Given the description of an element on the screen output the (x, y) to click on. 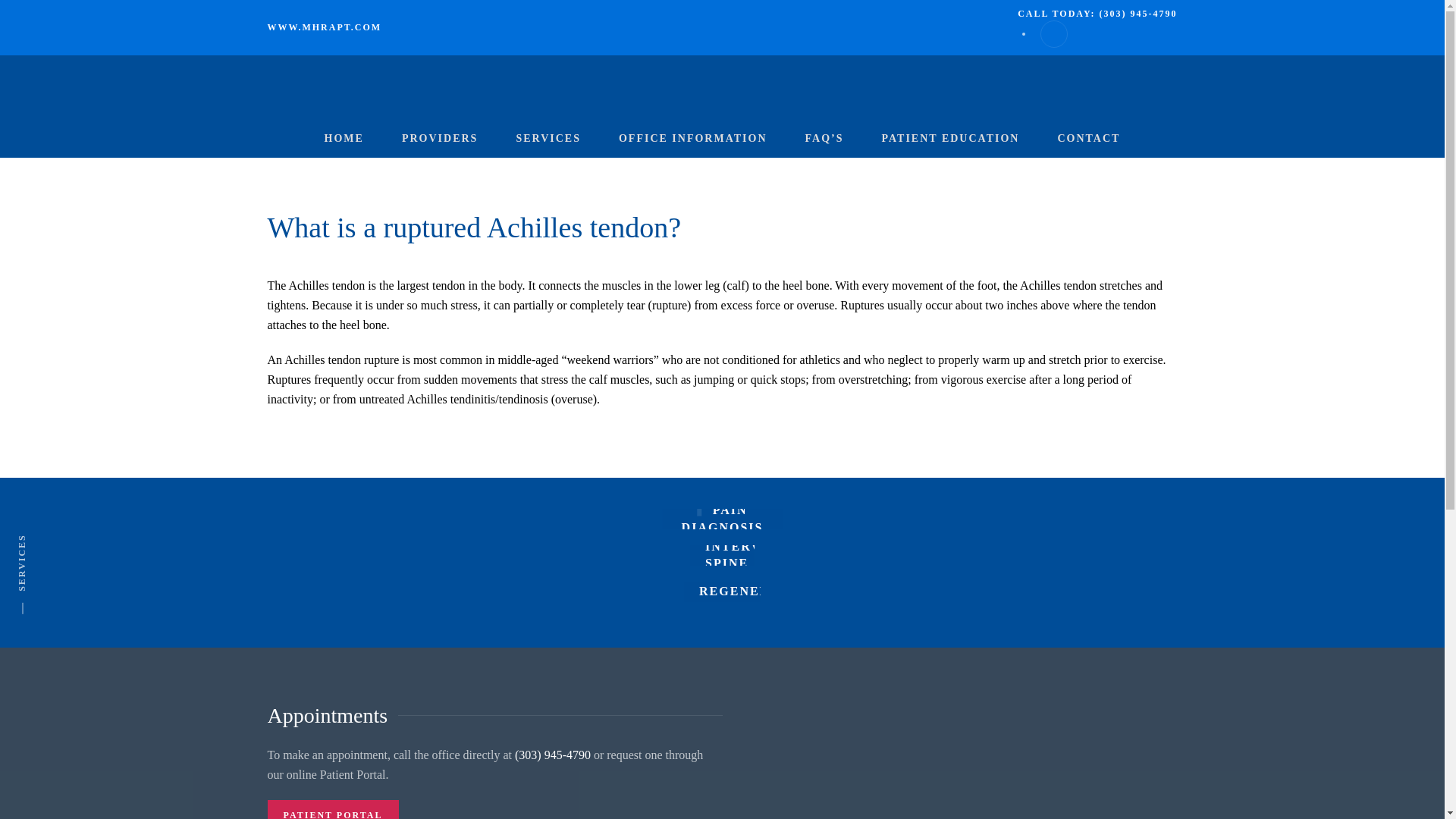
Office phone number (553, 754)
WWW.MHRAPT.COM (323, 27)
HOME (343, 138)
Call today. (1096, 13)
Visit Mile High Regenertive and Pain Therapy - Lakewood, CO (323, 27)
